Given the description of an element on the screen output the (x, y) to click on. 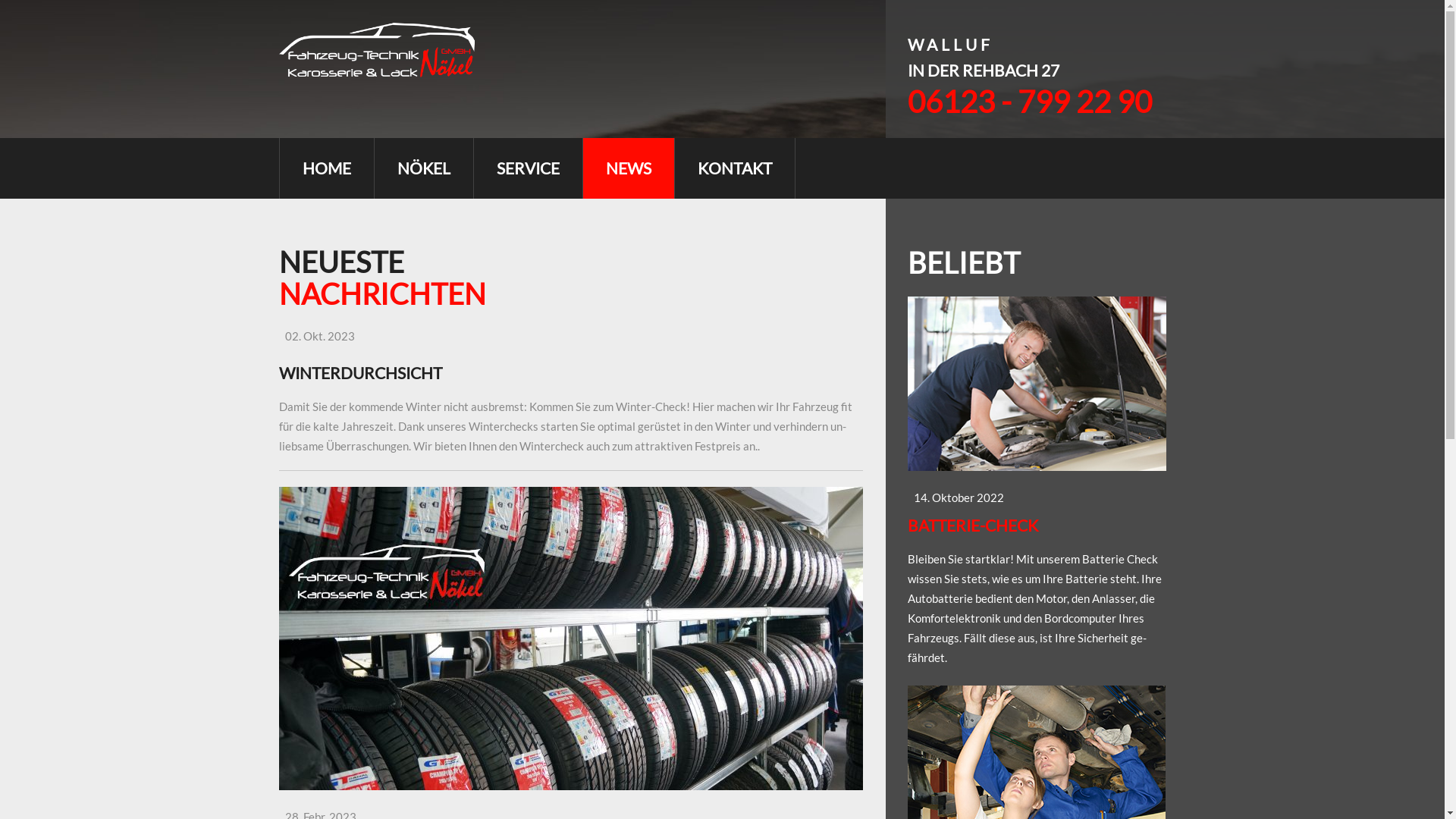
SERVICE Element type: text (527, 168)
06123 - 799 22 90 Element type: text (1028, 101)
NEWS Element type: text (628, 168)
KONTAKT Element type: text (733, 168)
HOME Element type: text (326, 168)
